Given the description of an element on the screen output the (x, y) to click on. 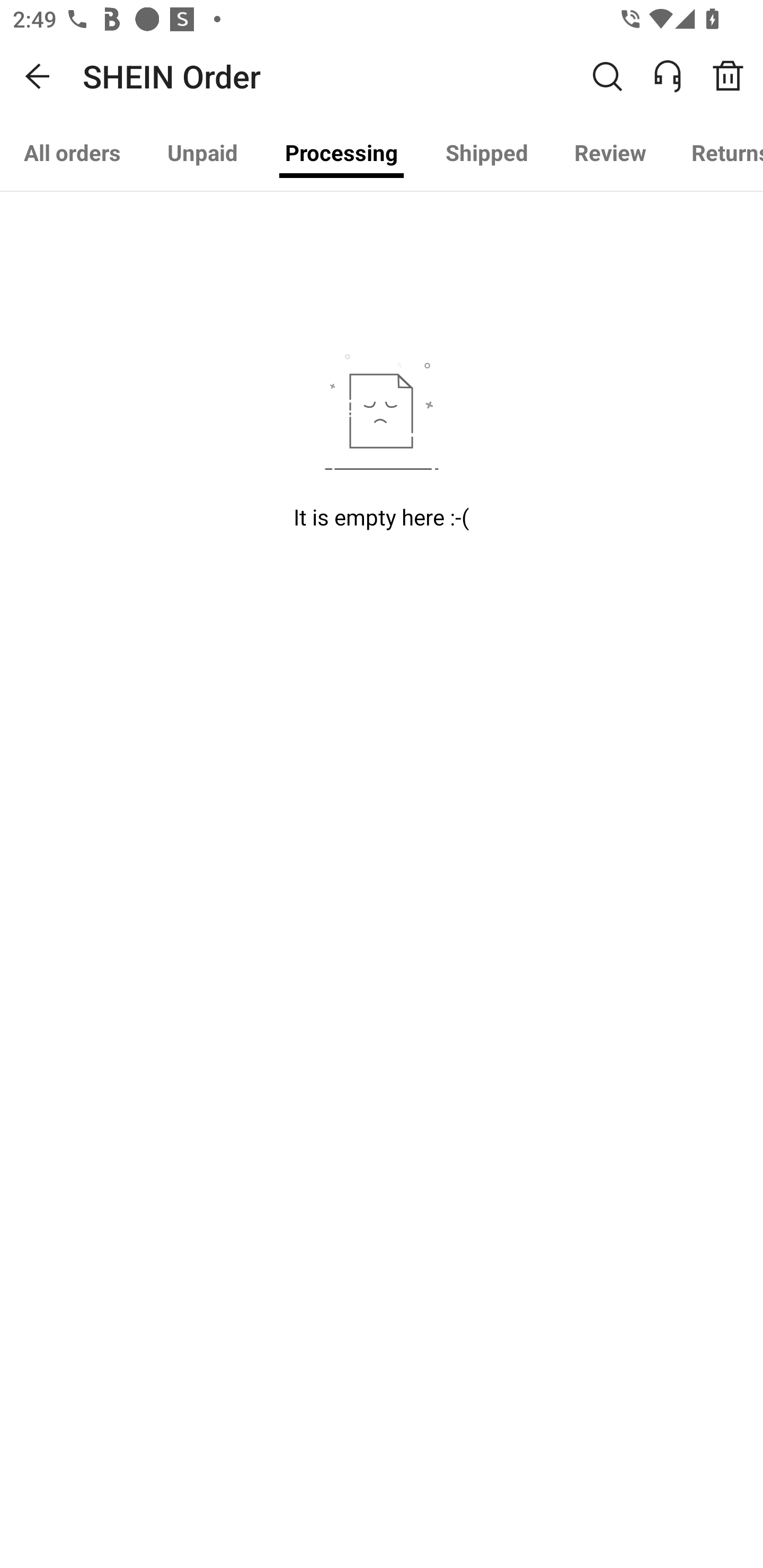
Navigate up (38, 75)
Search (607, 75)
ONLINE SERVICE (676, 75)
Order Recycle Bin (734, 75)
All orders (72, 152)
Unpaid (202, 152)
Processing (341, 152)
Shipped (486, 152)
Review (609, 152)
Returns (715, 152)
